Given the description of an element on the screen output the (x, y) to click on. 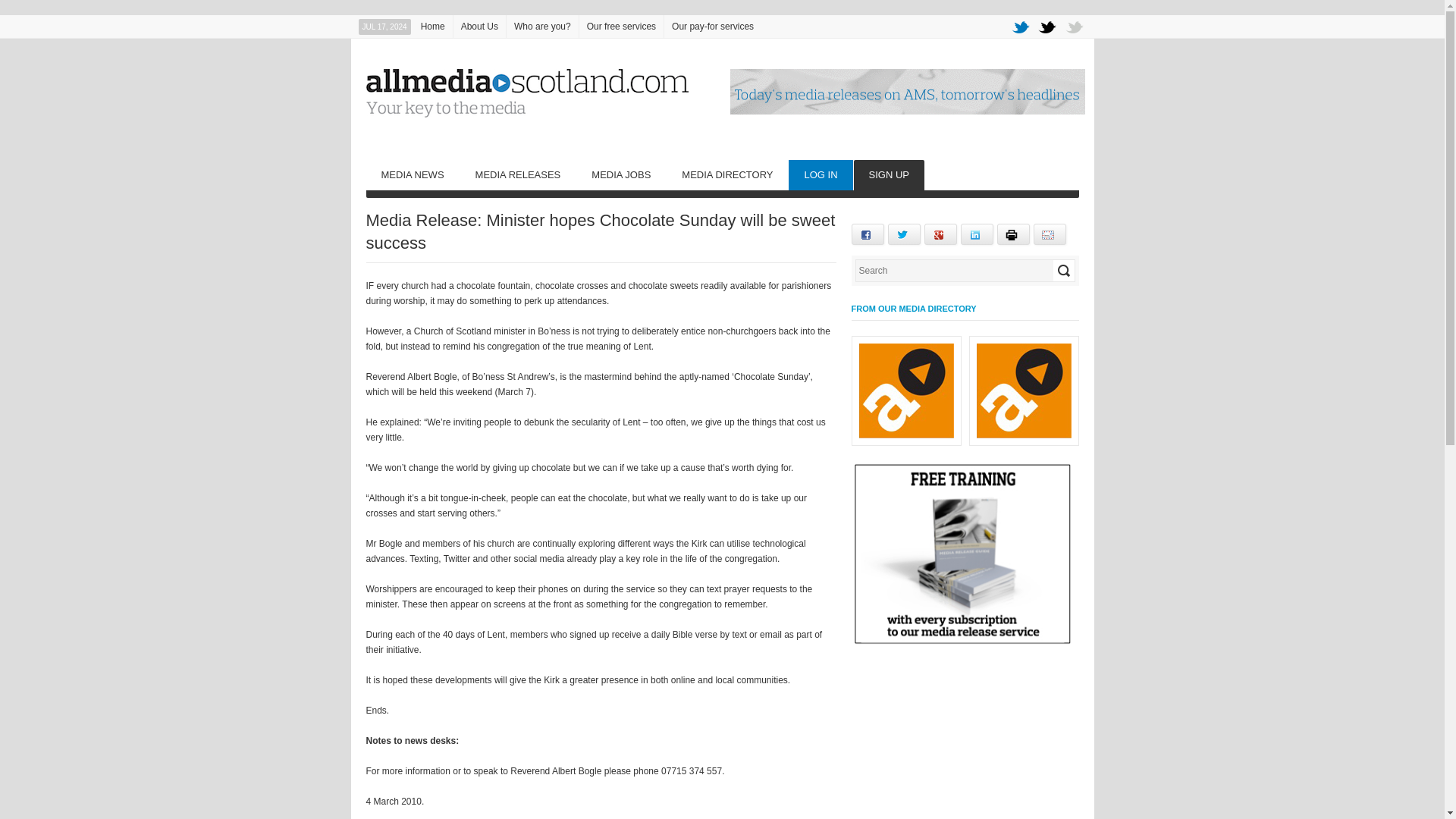
Search (1063, 270)
Who are you? (542, 26)
Our pay-for services (712, 26)
About Us (478, 26)
Our free services (621, 26)
media release service, media release distribution (518, 174)
Home (432, 26)
MEDIA NEWS (411, 174)
MEDIA JOBS (620, 174)
Media jobs, media careers, jobs in the media (620, 174)
MEDIA RELEASES (518, 174)
